Given the description of an element on the screen output the (x, y) to click on. 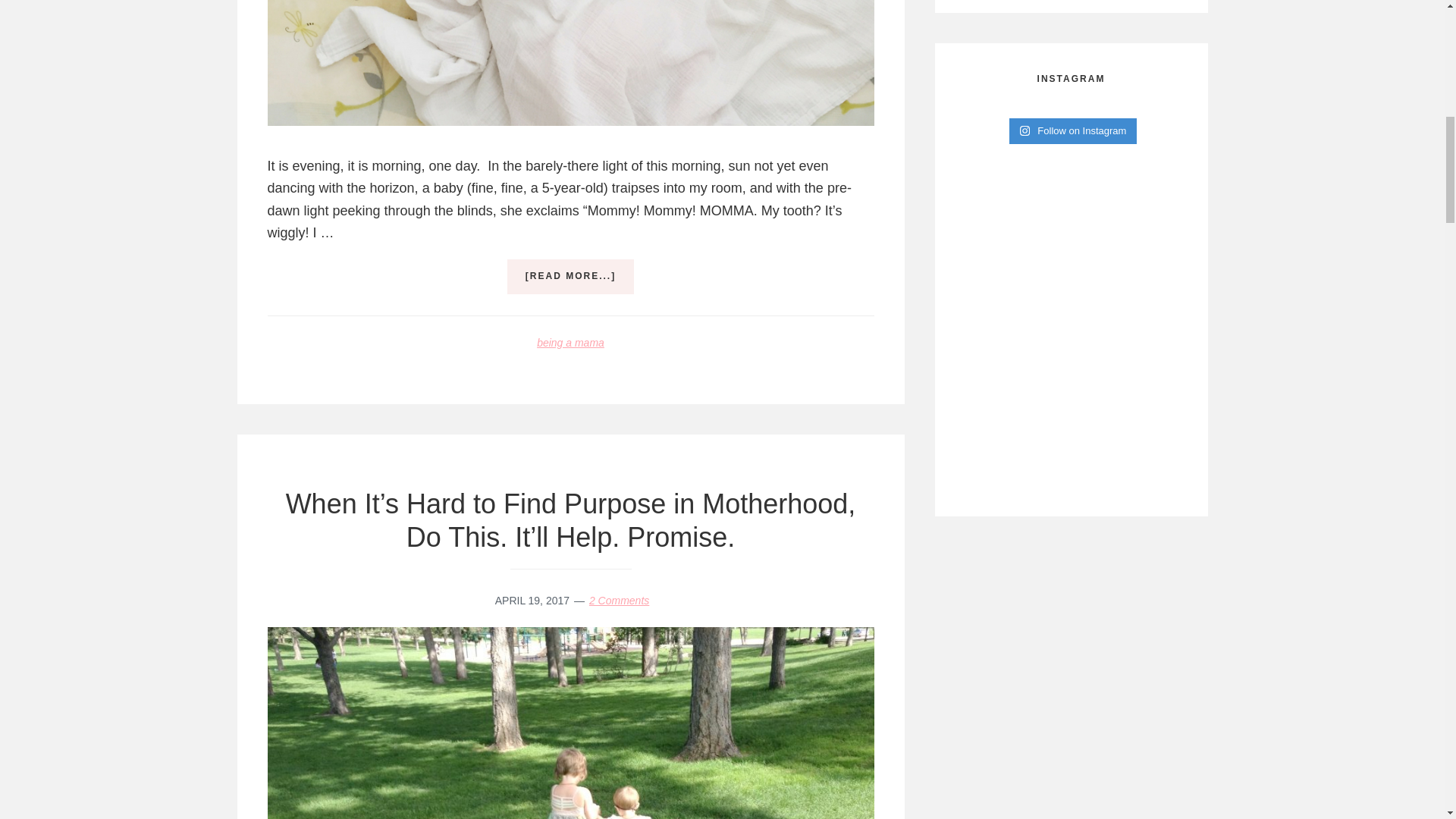
being a mama (570, 342)
2 Comments (619, 600)
